Given the description of an element on the screen output the (x, y) to click on. 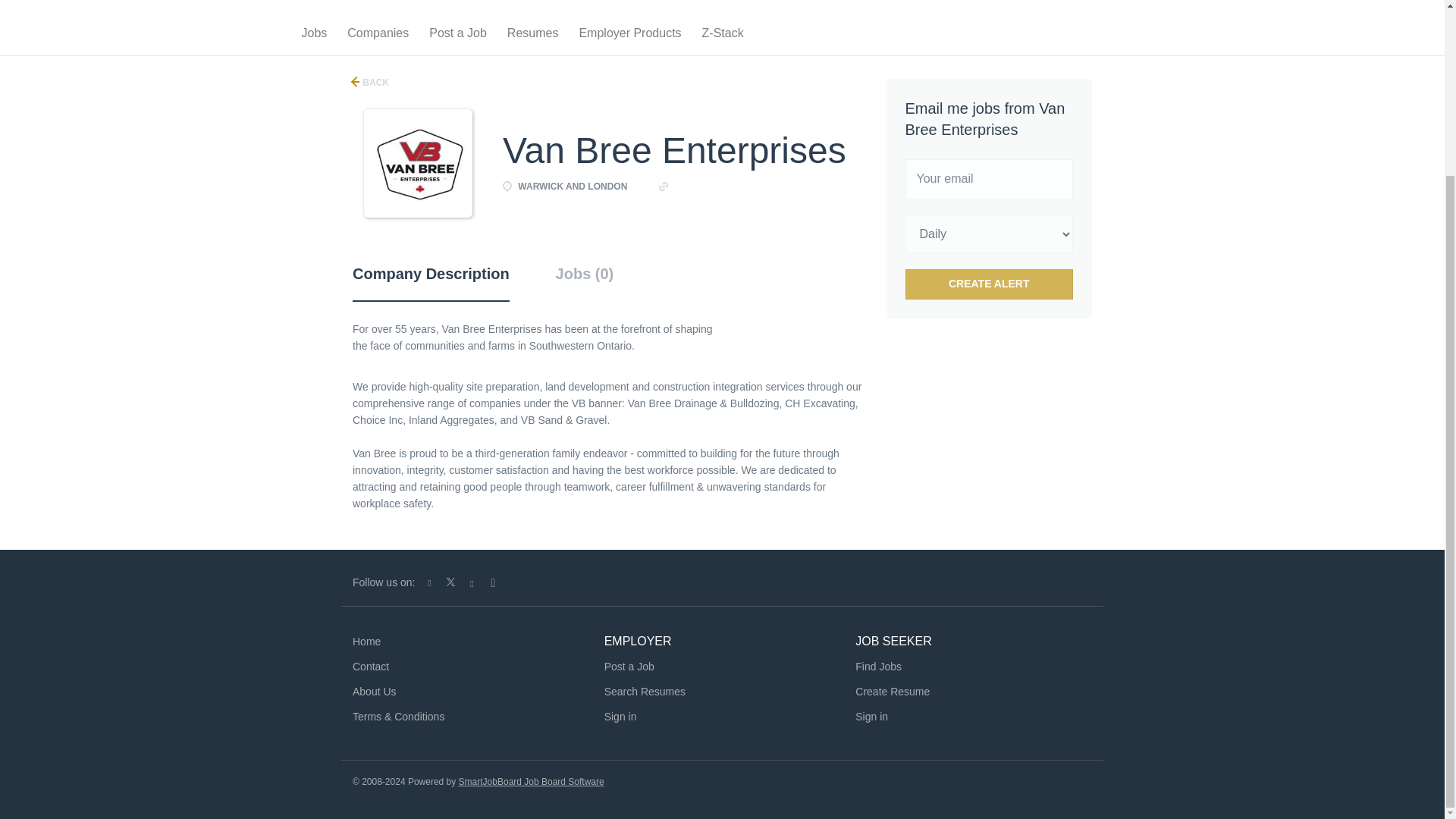
Create alert (989, 284)
Jobs (314, 36)
Company Description (430, 282)
Companies (377, 36)
BACK (370, 82)
Z-Stack (722, 36)
Search Resumes (644, 691)
SmartJobBoard Job Board Software (531, 781)
Job Board Software, Script (531, 781)
Create Resume (893, 691)
